Given the description of an element on the screen output the (x, y) to click on. 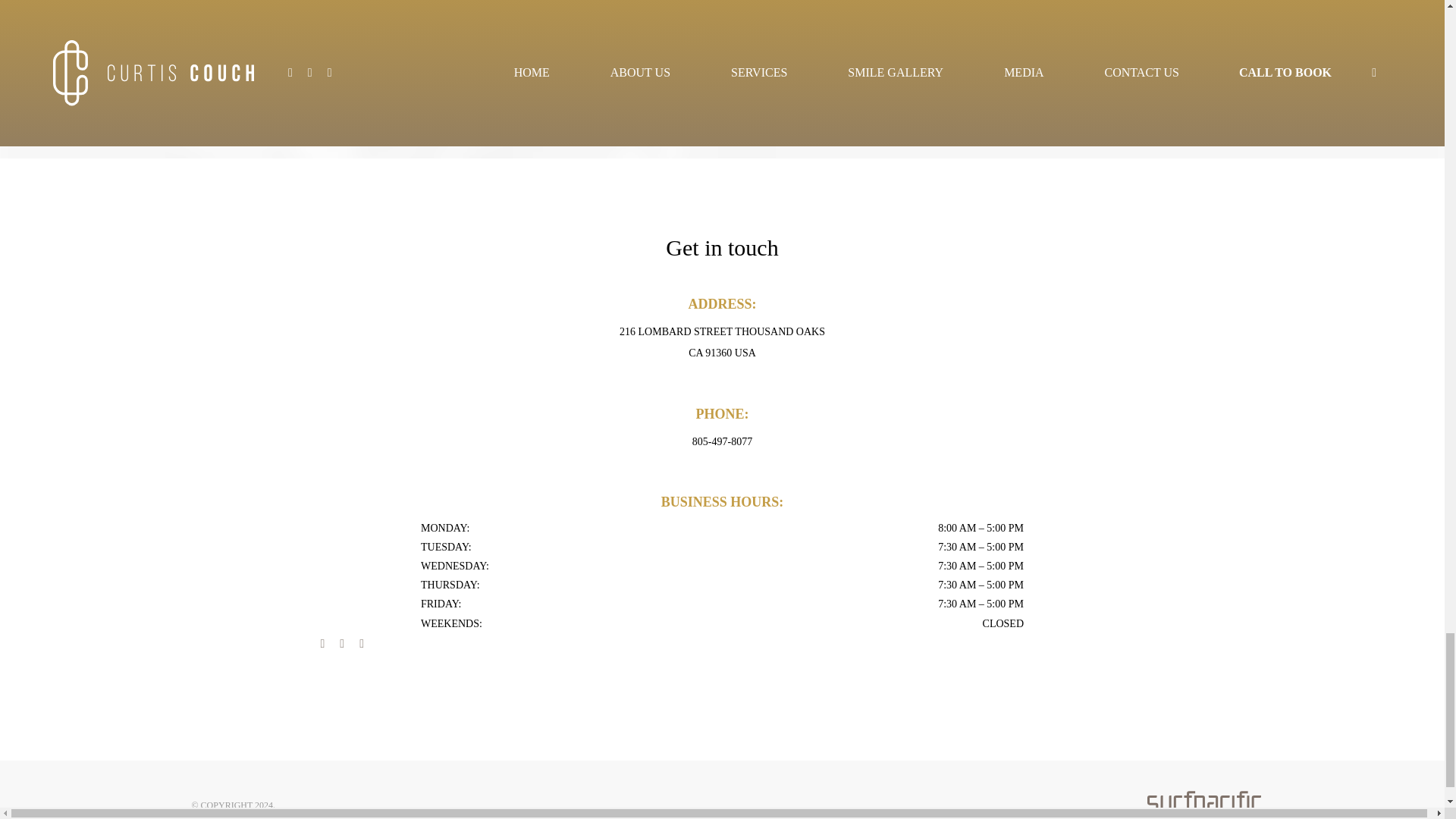
surfpacific (1203, 797)
